Given the description of an element on the screen output the (x, y) to click on. 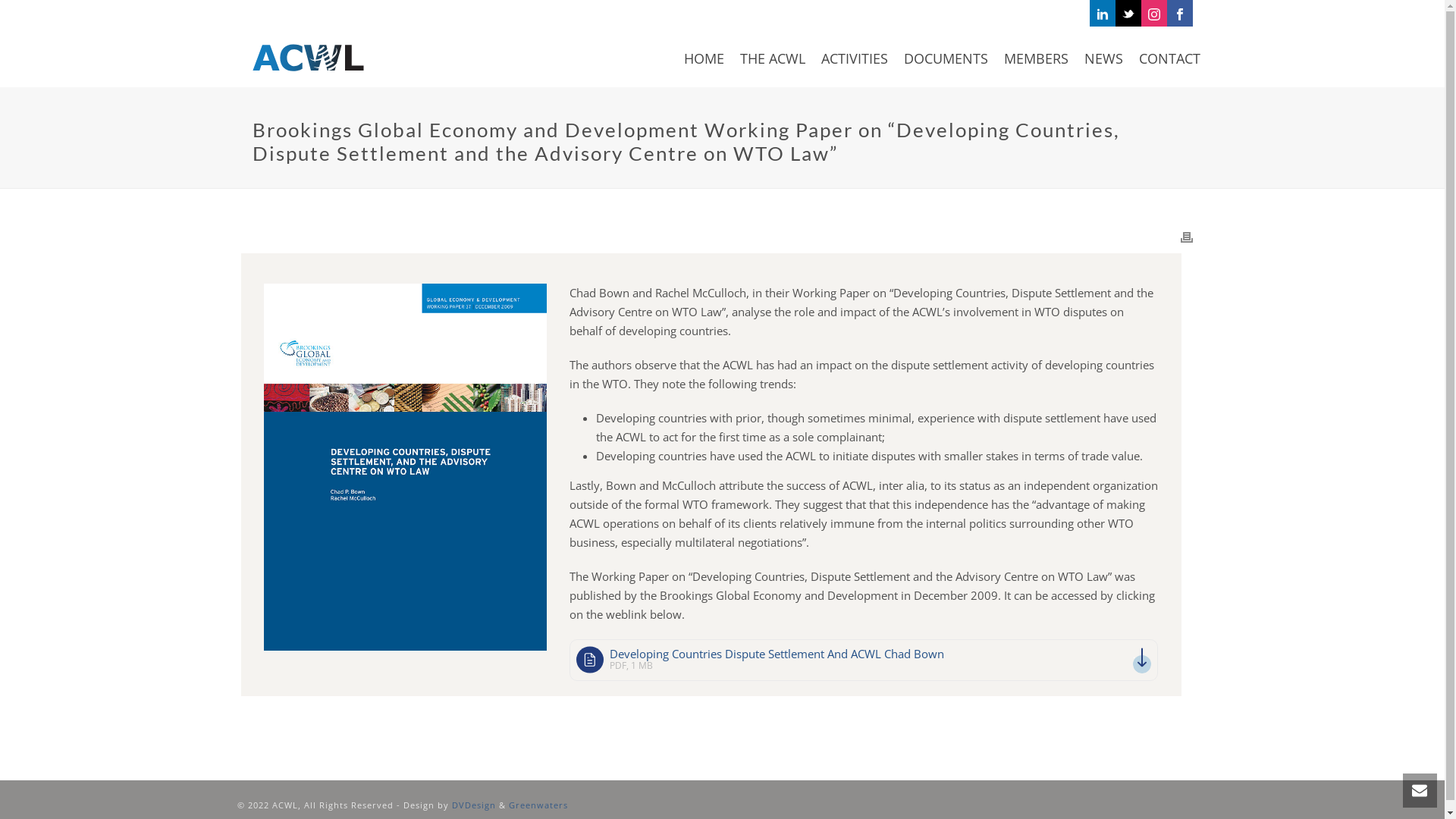
HOME Element type: text (703, 56)
CONTACT Element type: text (1169, 56)
Developing_countries_dispute_settlement_and_ACWL_Chad_Bown Element type: hover (404, 466)
MEMBERS Element type: text (1036, 56)
ACTIVITIES Element type: text (853, 56)
Advisory Centre on WTO Law Element type: hover (307, 56)
DVDesign Element type: text (473, 804)
Greenwaters Element type: text (537, 804)
NEWS Element type: text (1103, 56)
DOCUMENTS Element type: text (945, 56)
Print Element type: hover (1185, 235)
THE ACWL Element type: text (772, 56)
